Given the description of an element on the screen output the (x, y) to click on. 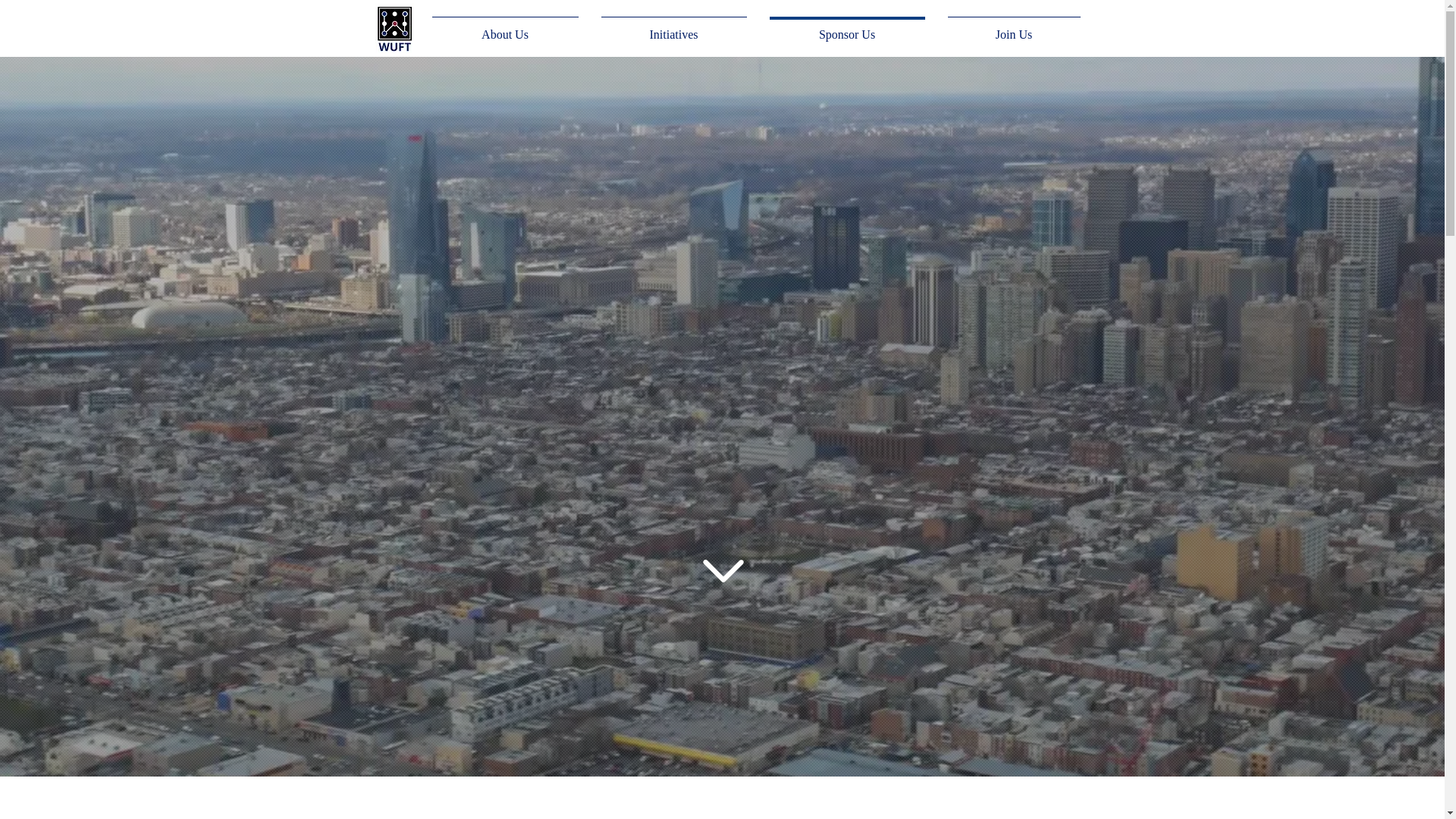
Sponsor Us (847, 27)
Join Us (1013, 27)
About Us (504, 27)
Initiatives (673, 27)
